Given the description of an element on the screen output the (x, y) to click on. 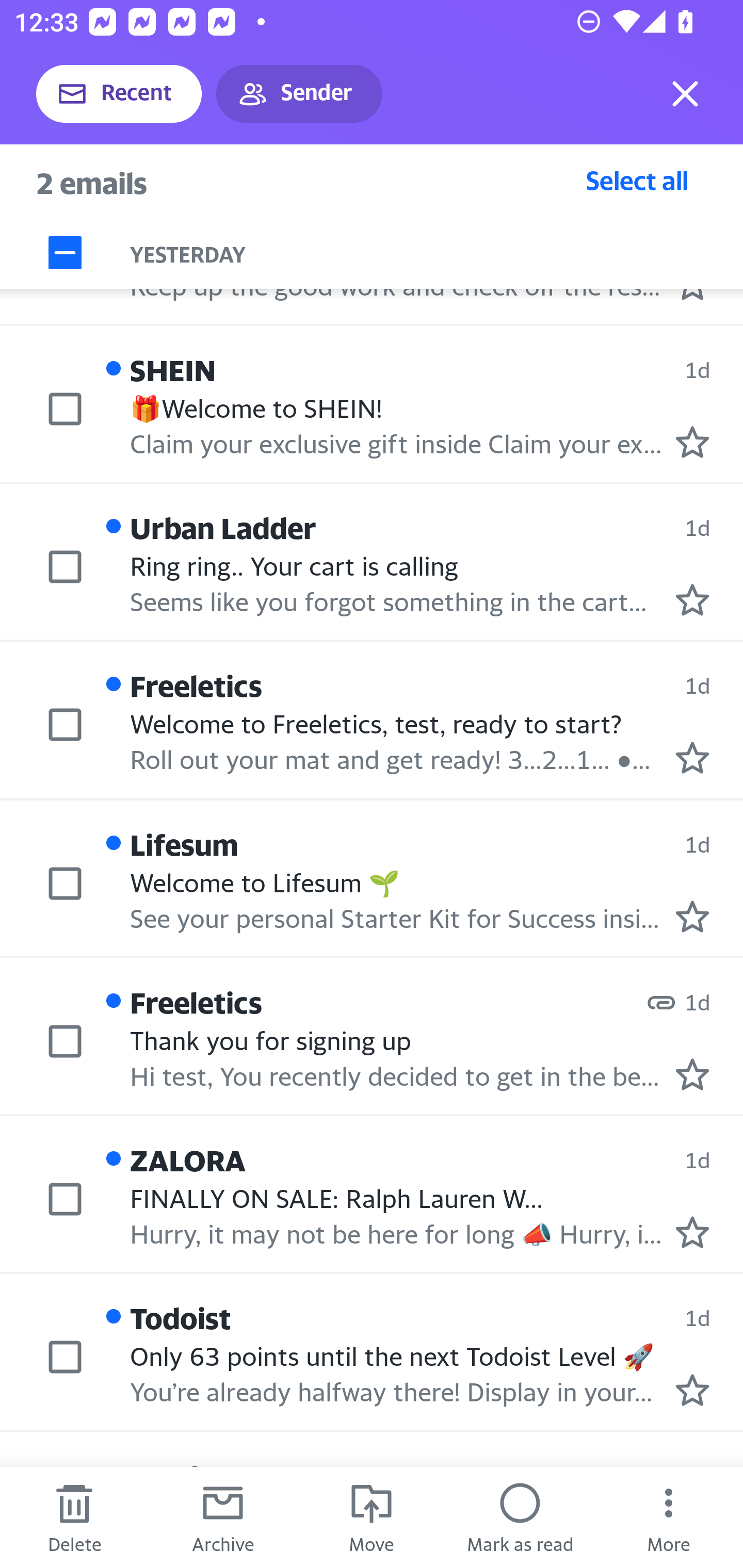
Sender (299, 93)
Exit selection mode (684, 93)
Select all (637, 180)
Mark as starred. (692, 441)
Mark as starred. (692, 599)
Mark as starred. (692, 758)
Mark as starred. (692, 916)
Mark as starred. (692, 1074)
Mark as starred. (692, 1231)
Mark as starred. (692, 1390)
Delete (74, 1517)
Archive (222, 1517)
Move (371, 1517)
Mark as read (519, 1517)
More (668, 1517)
